Given the description of an element on the screen output the (x, y) to click on. 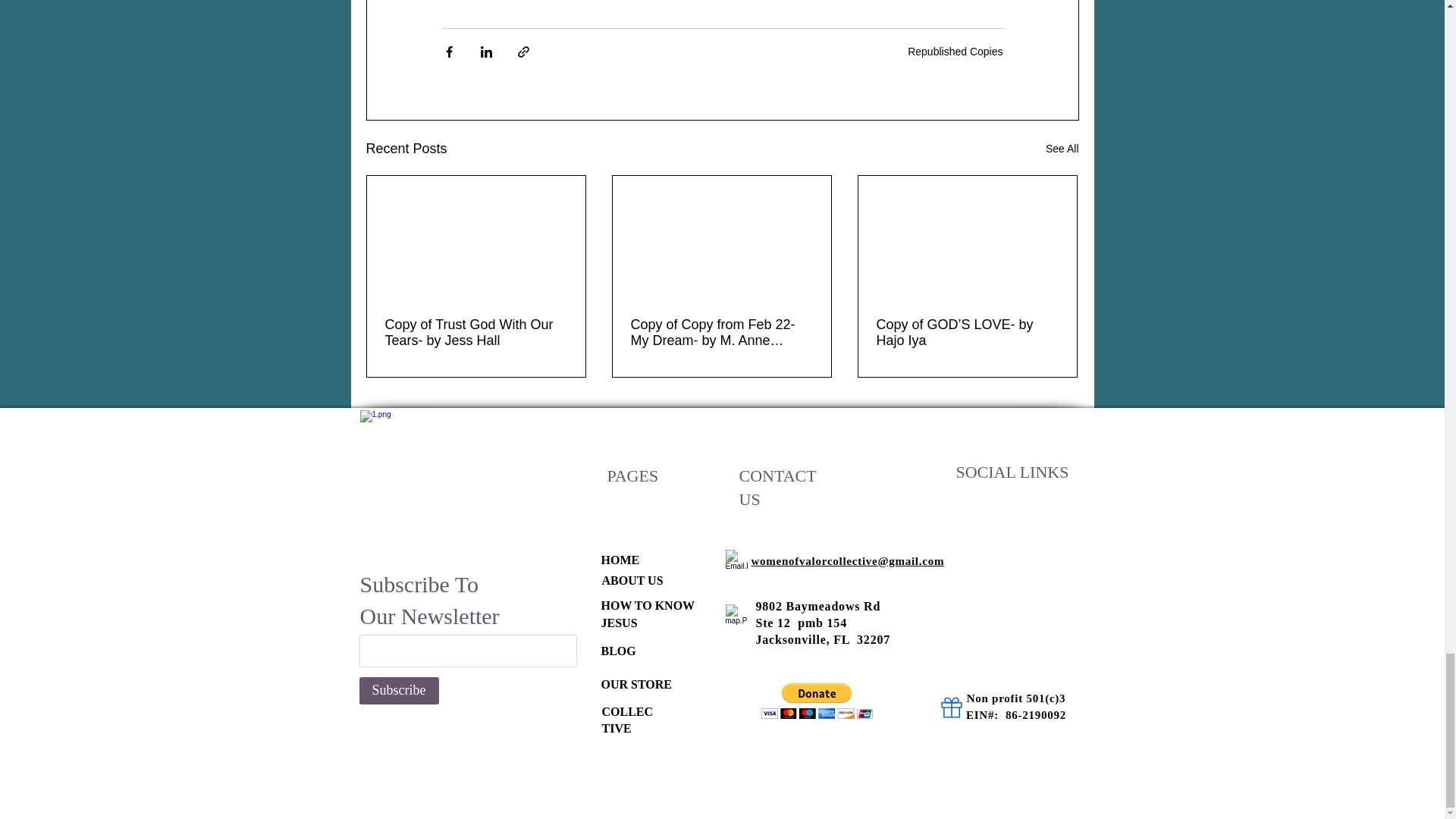
HOW TO KNOW JESUS (646, 613)
BLOG (616, 650)
Republished Copies (955, 51)
Copy of Trust God With Our Tears- by Jess Hall (476, 332)
Copy of Copy from Feb 22- My Dream- by M. Anne Blount (721, 332)
9802 Baymeadows Rd (817, 605)
Subscribe (399, 690)
HOME (619, 559)
COLLECTIVE (627, 719)
ABOUT US (632, 580)
